Given the description of an element on the screen output the (x, y) to click on. 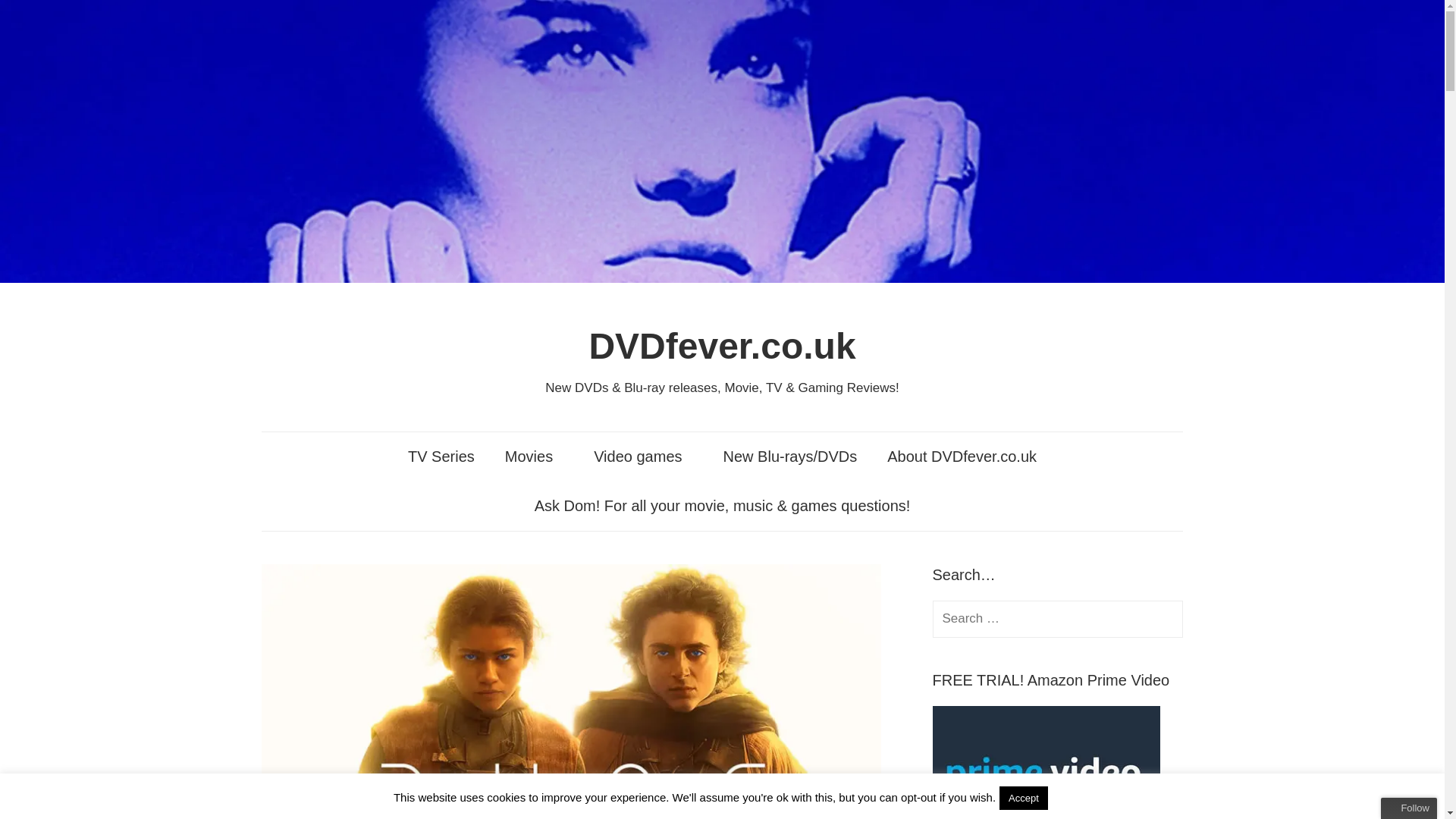
Video games (642, 456)
DVDfever.co.uk (722, 345)
About DVDfever.co.uk (961, 456)
TV Series (441, 456)
Movies (533, 456)
